Given the description of an element on the screen output the (x, y) to click on. 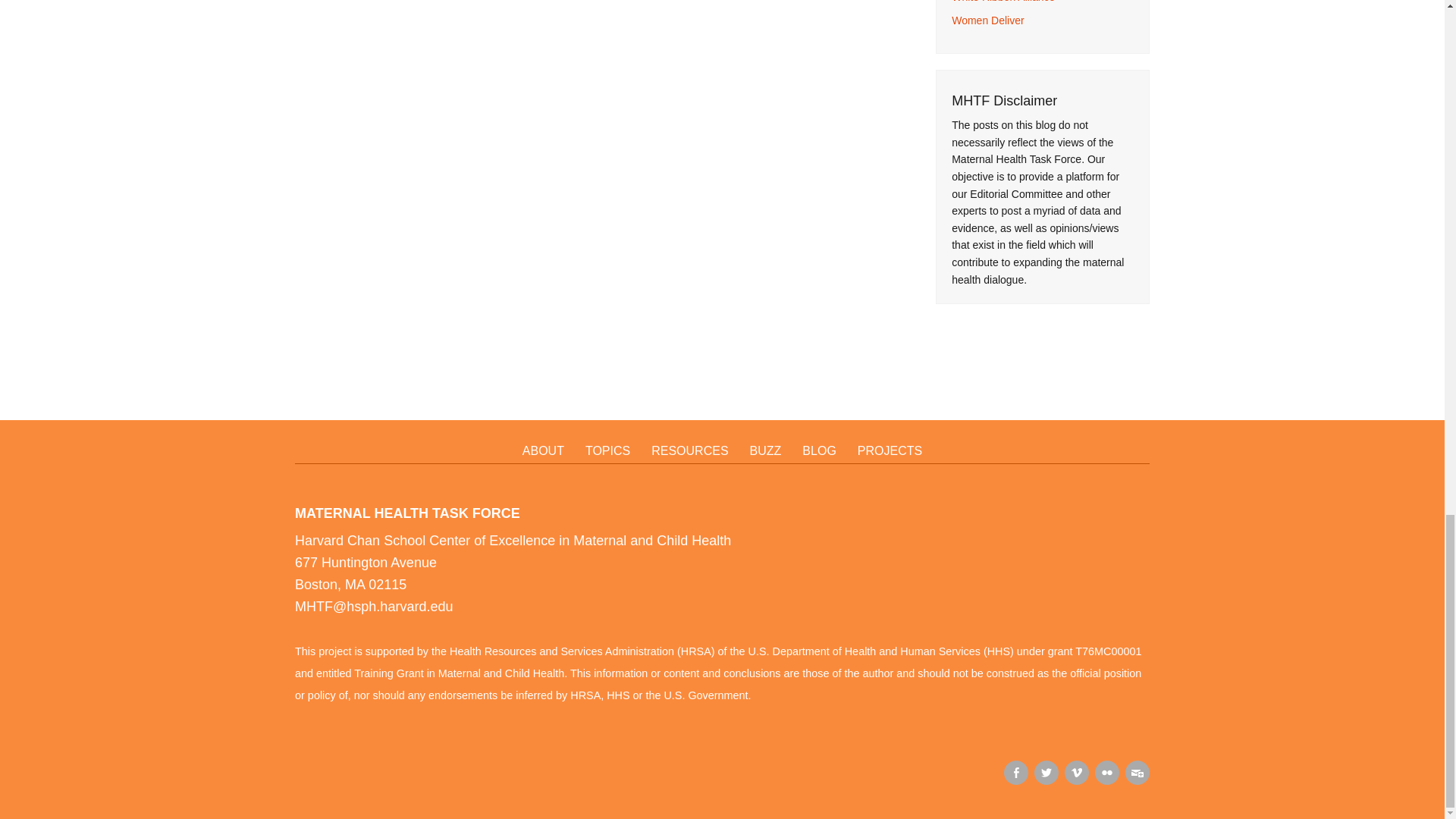
White Ribbon Alliance (1003, 1)
